Given the description of an element on the screen output the (x, y) to click on. 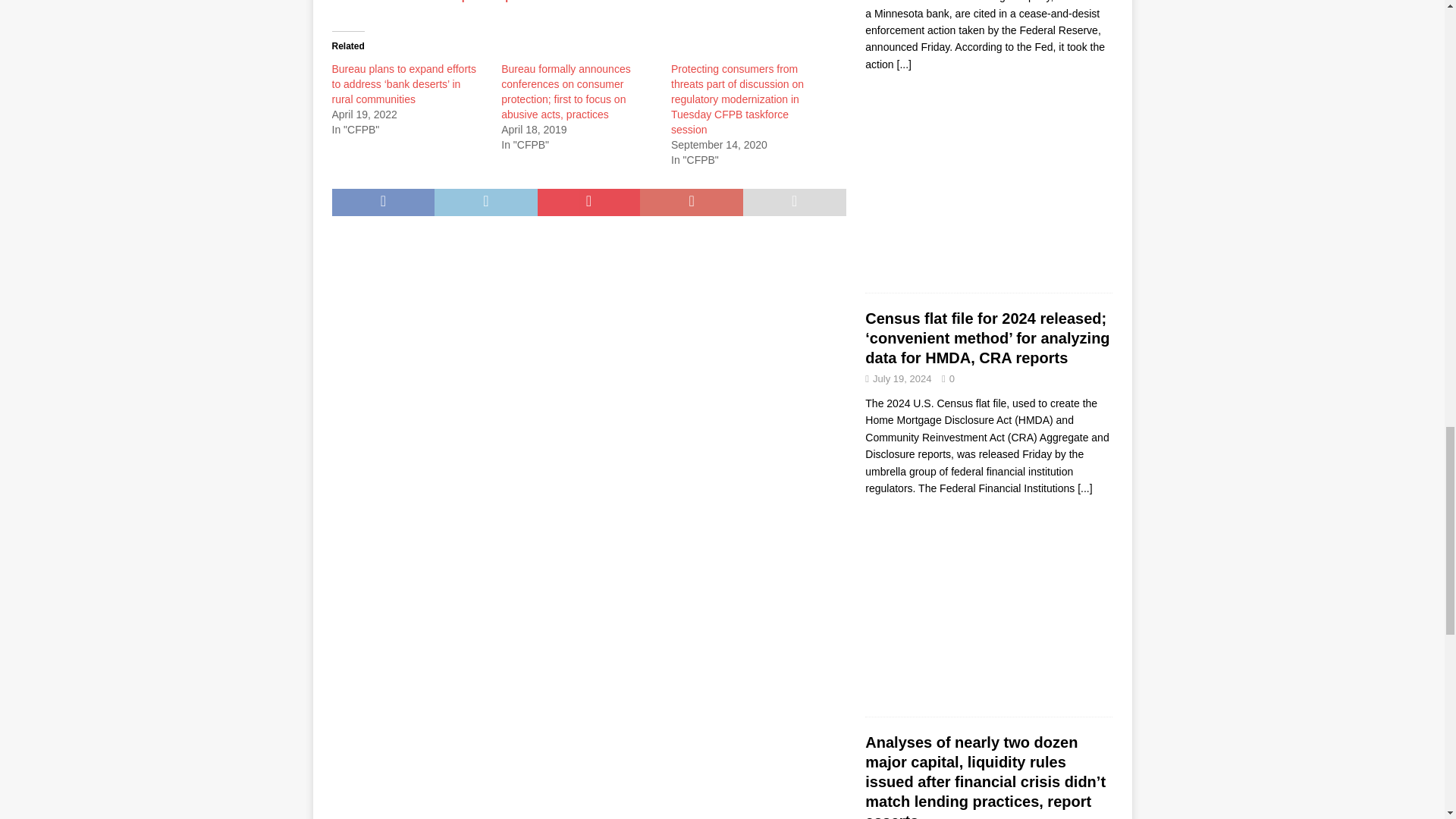
Bureau roundtables seek public input (426, 1)
